Given the description of an element on the screen output the (x, y) to click on. 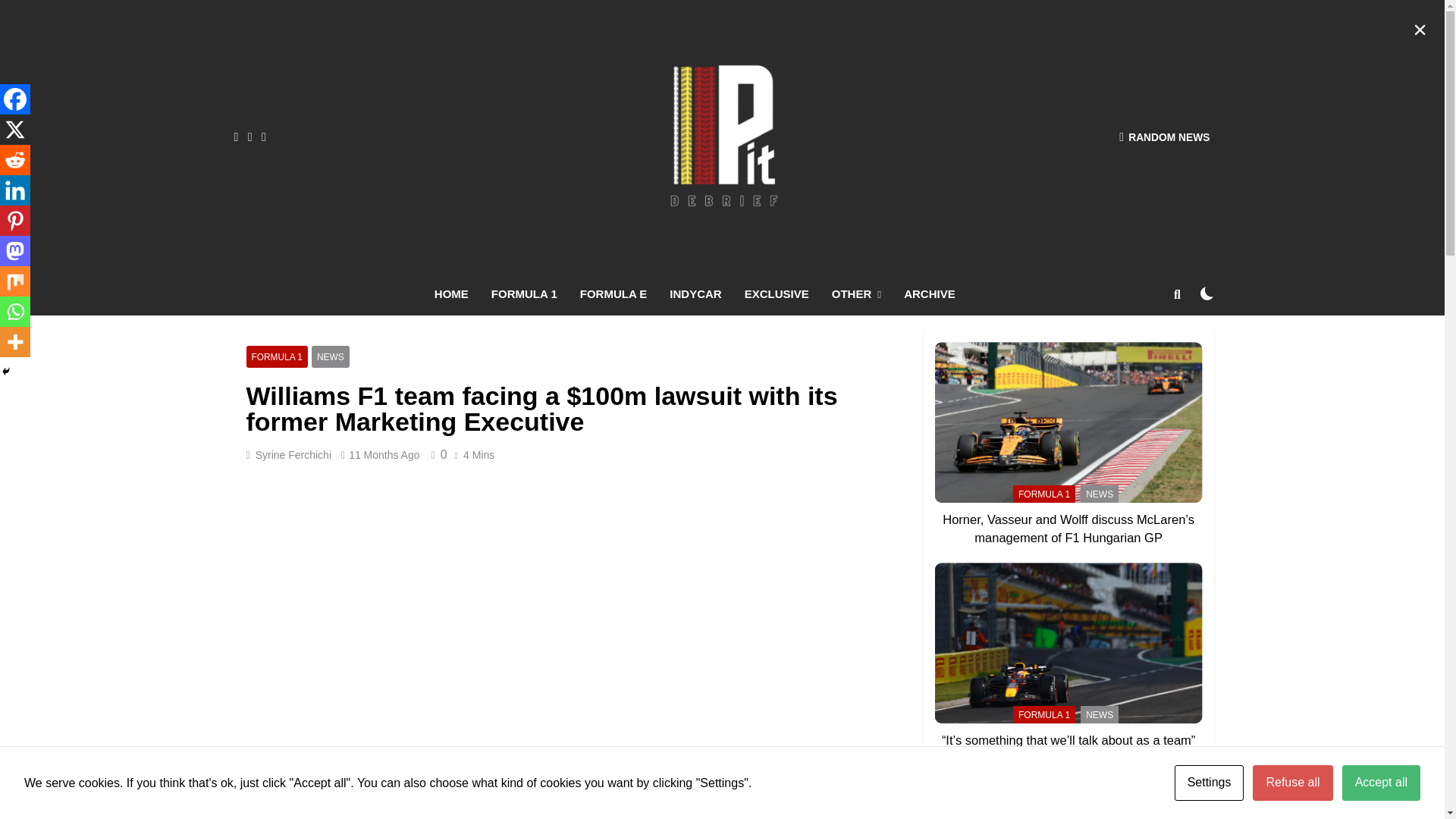
Syrine Ferchichi (293, 454)
Reddit (15, 159)
Pinterest (15, 220)
0 (436, 454)
RANDOM NEWS (1164, 136)
FORMULA E (614, 293)
INDYCAR (695, 293)
OTHER (856, 294)
Linkedin (15, 190)
HOME (451, 293)
11 Months Ago (384, 454)
ARCHIVE (929, 293)
NEWS (330, 356)
X (15, 129)
on (1206, 293)
